Given the description of an element on the screen output the (x, y) to click on. 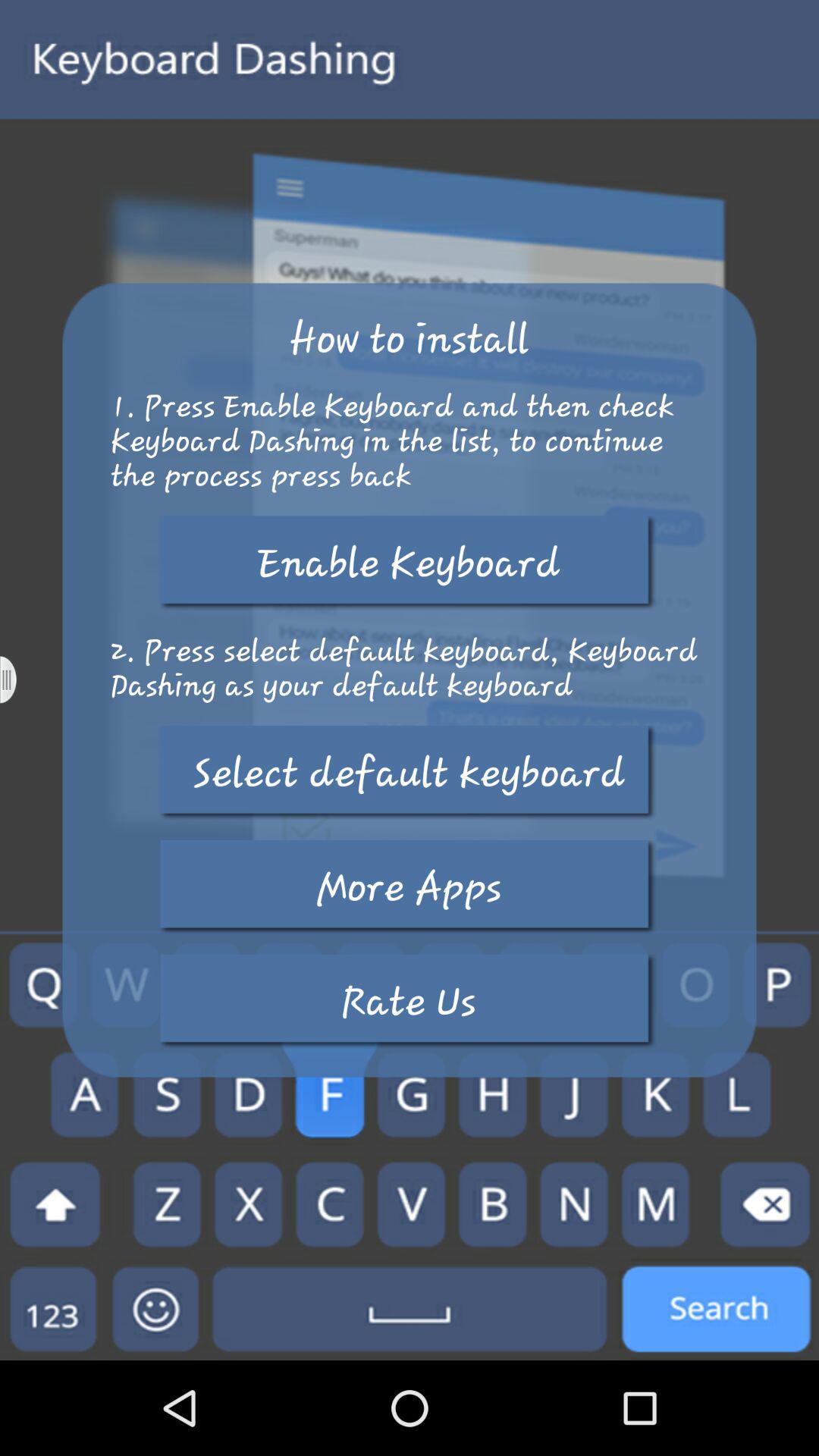
jump until rate us button (409, 1001)
